Given the description of an element on the screen output the (x, y) to click on. 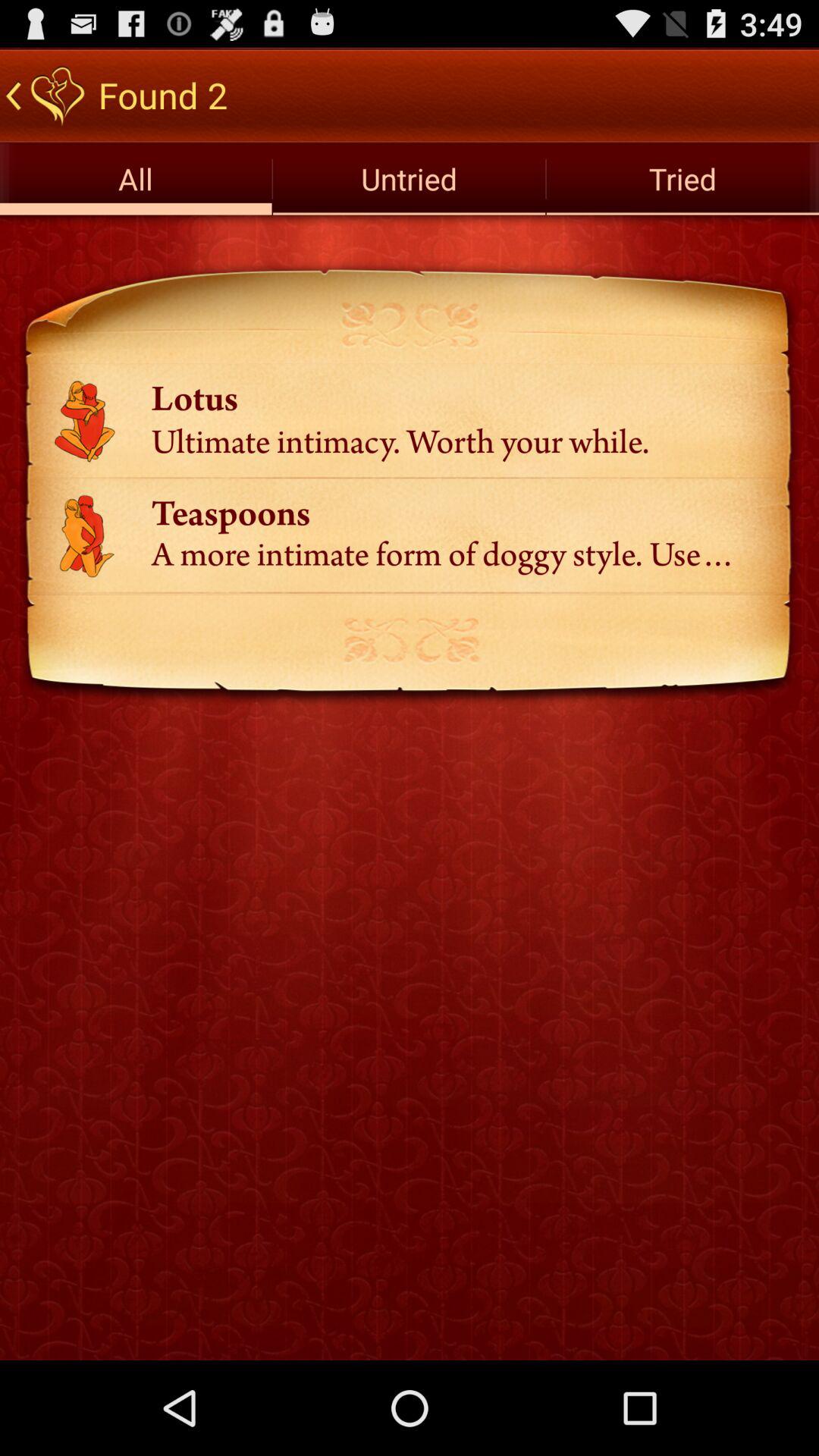
select the image left side to text teaspoons (85, 536)
